Given the description of an element on the screen output the (x, y) to click on. 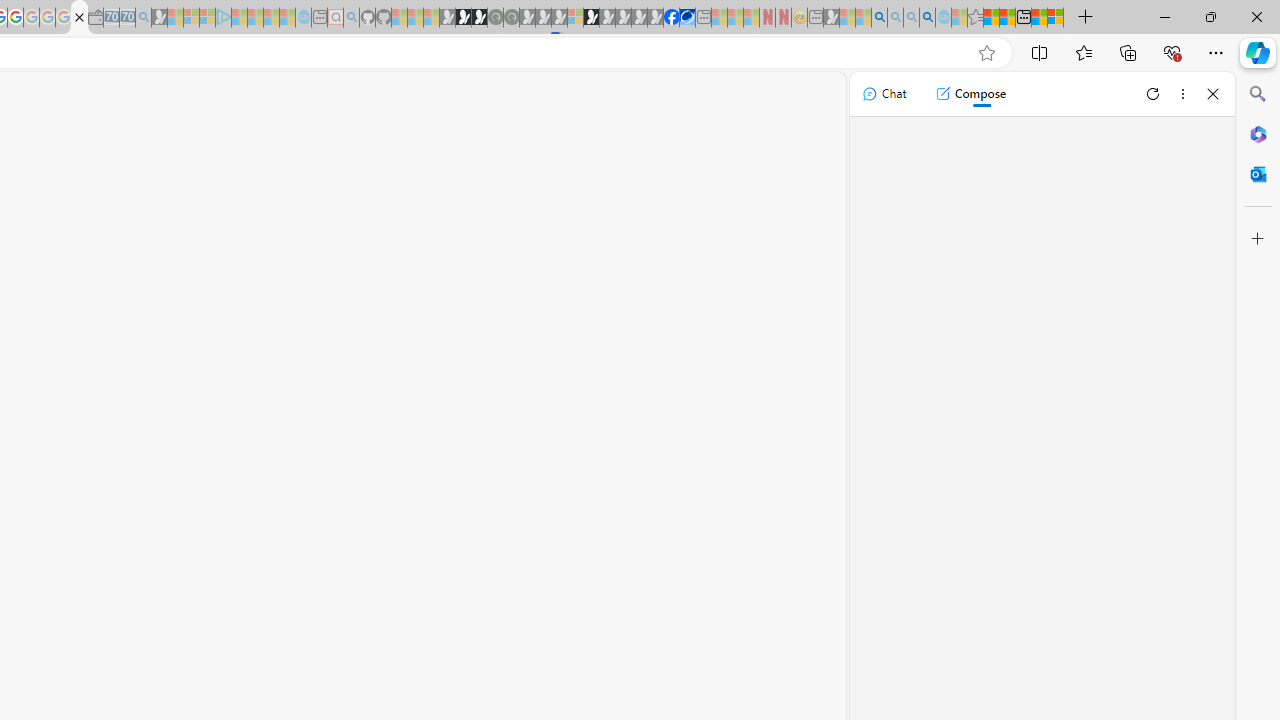
Future Focus Report 2024 - Sleeping (511, 17)
github - Search - Sleeping (351, 17)
